Given the description of an element on the screen output the (x, y) to click on. 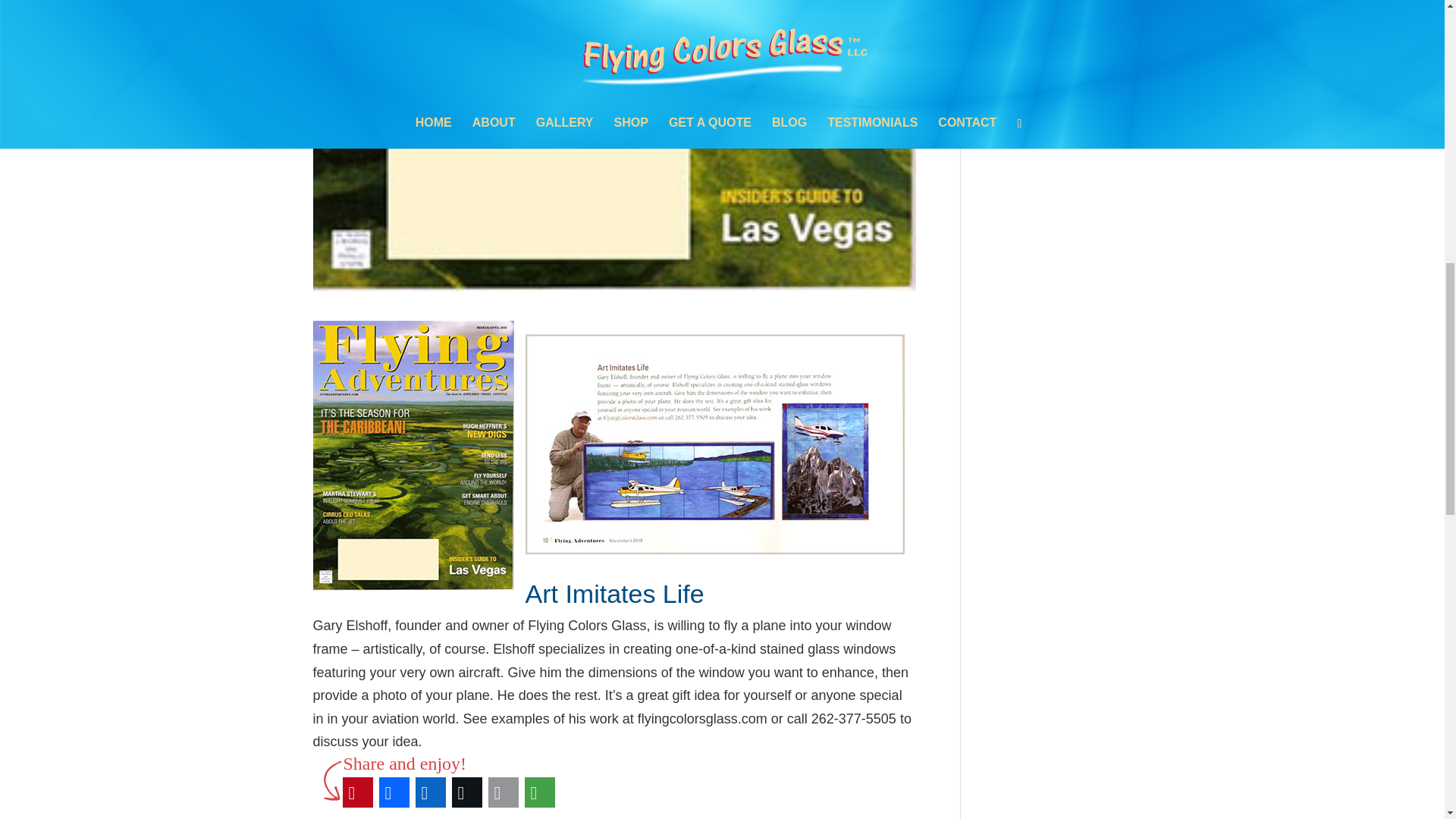
Facebook (393, 791)
More Options (539, 791)
Pinterest (357, 791)
LinkedIn (430, 791)
Email This (502, 791)
